Given the description of an element on the screen output the (x, y) to click on. 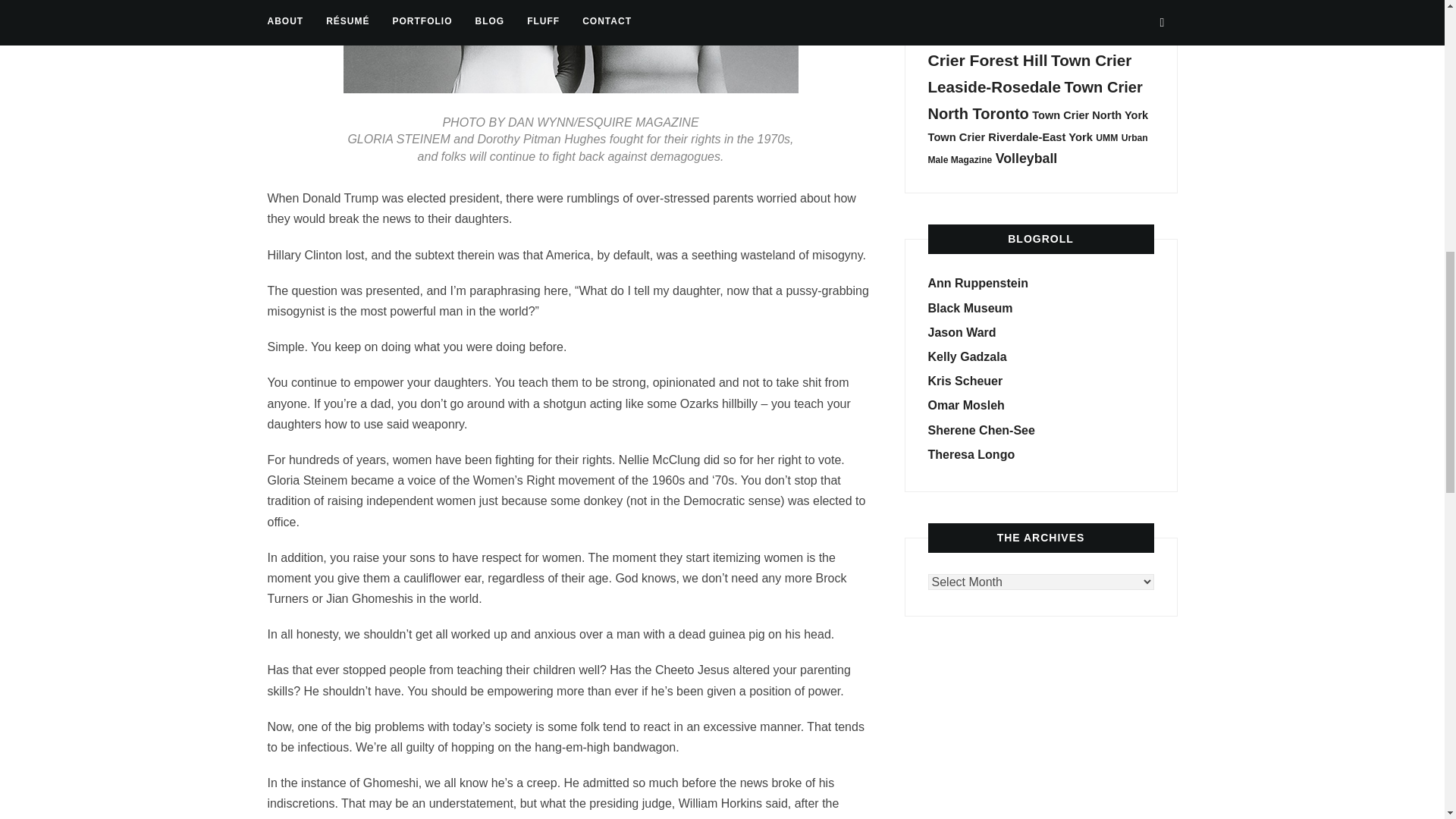
Lurid Lectures for the Morbidly Curious (970, 308)
Ann Ruppenstein (977, 282)
Kris Scheuer (965, 380)
Kelly Gadzala (967, 356)
Sherene Chen-See (981, 430)
